Given the description of an element on the screen output the (x, y) to click on. 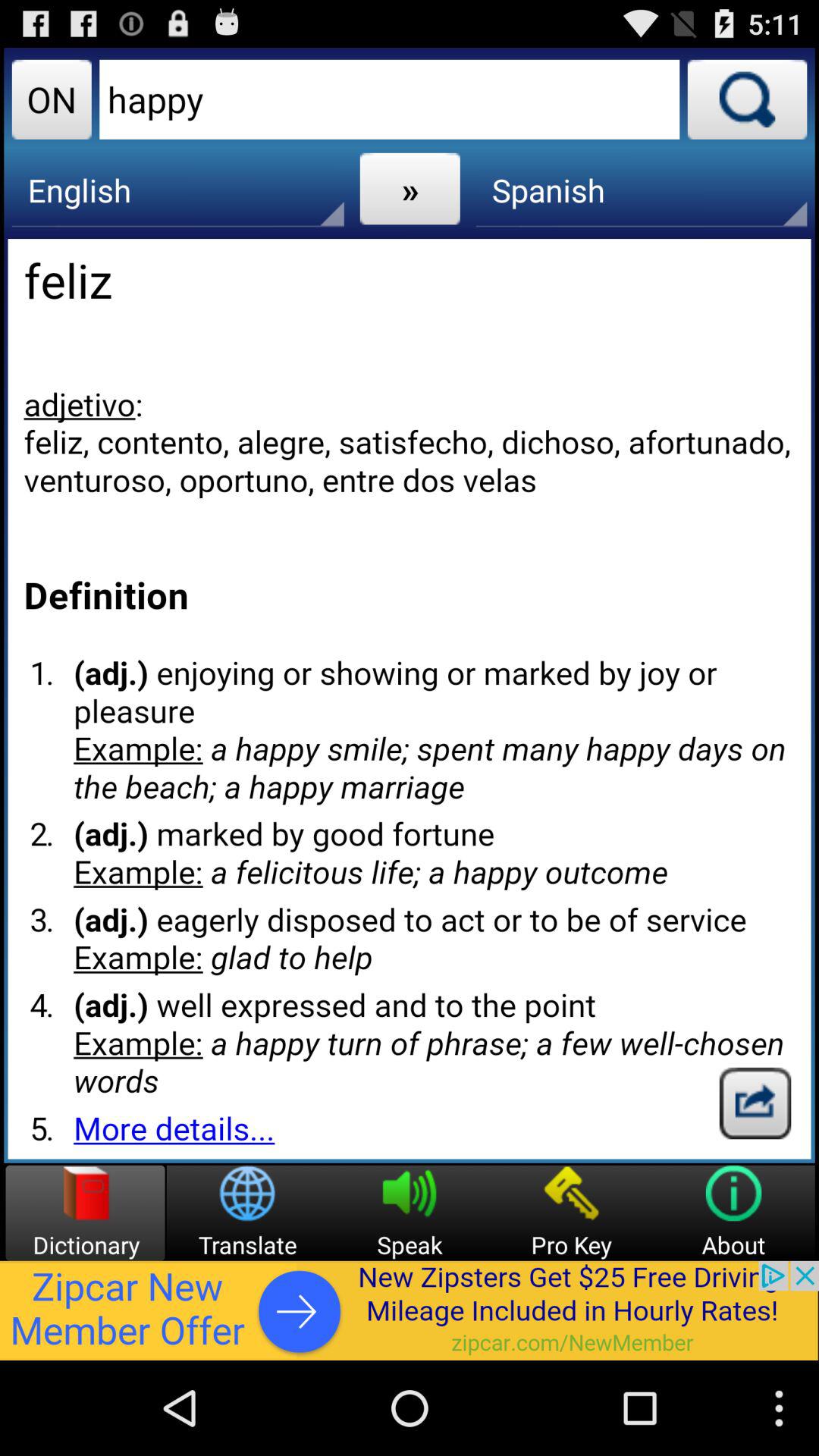
share all (755, 1103)
